Given the description of an element on the screen output the (x, y) to click on. 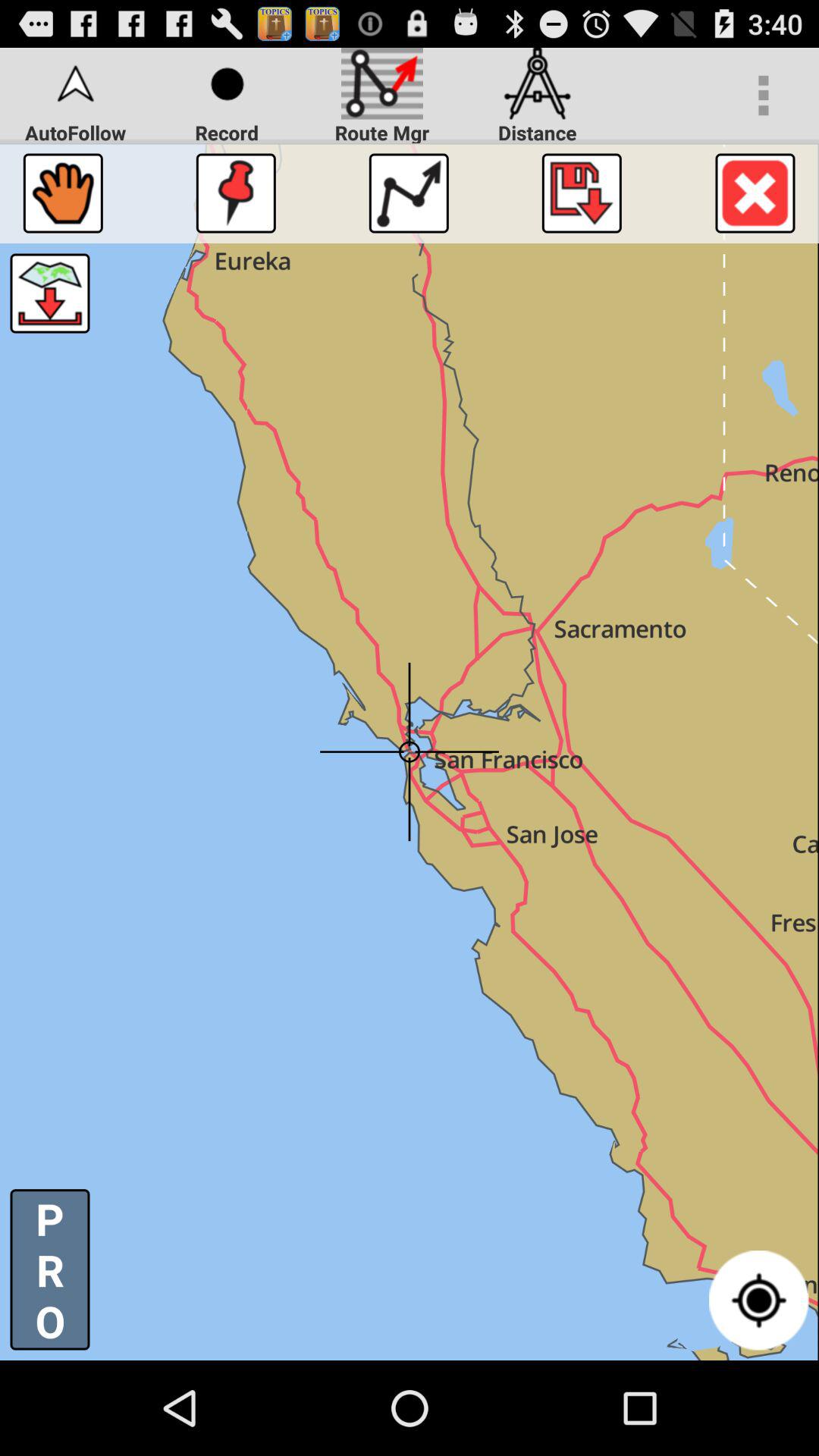
download map (49, 293)
